Given the description of an element on the screen output the (x, y) to click on. 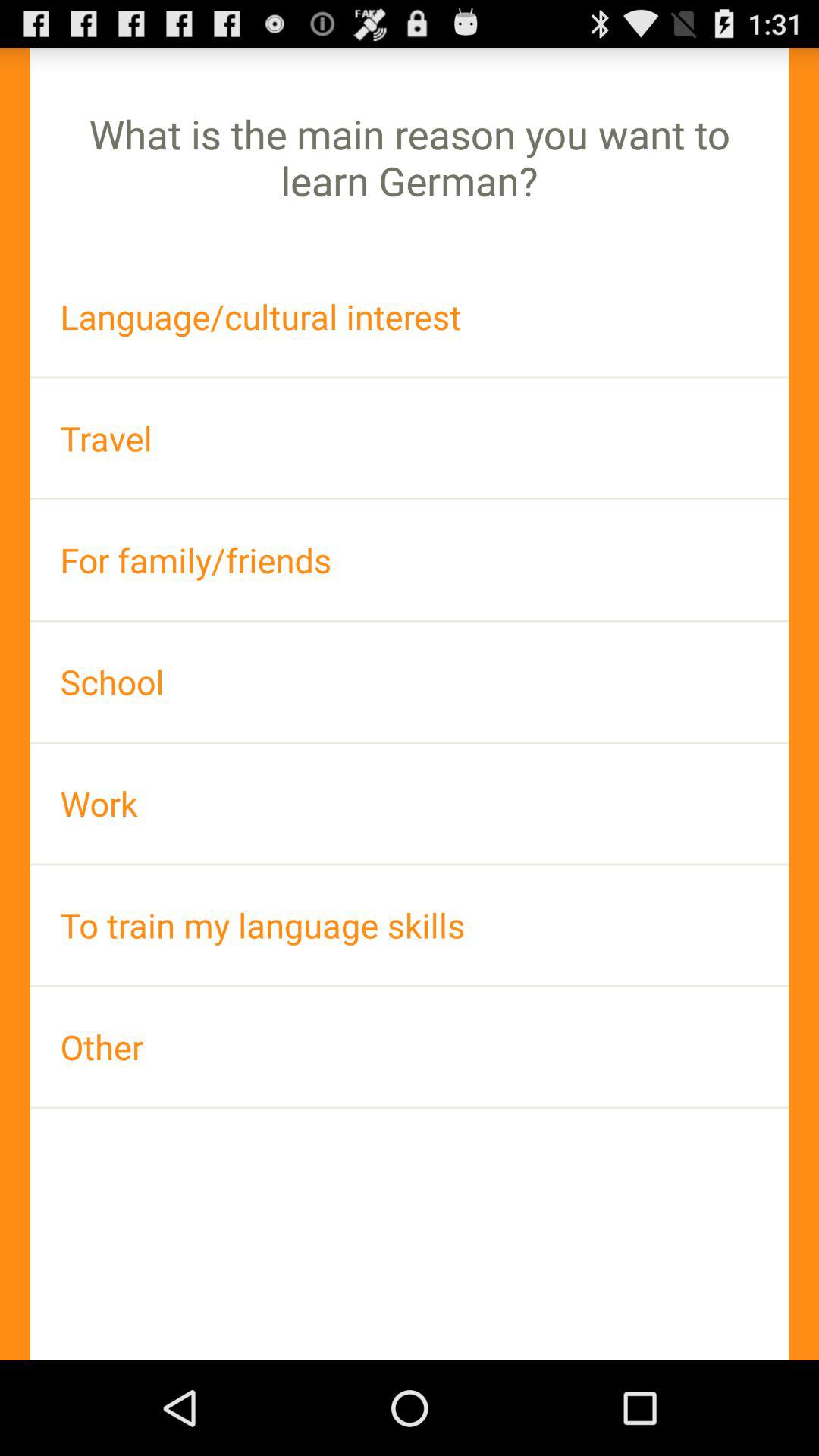
select item above the school app (409, 559)
